Given the description of an element on the screen output the (x, y) to click on. 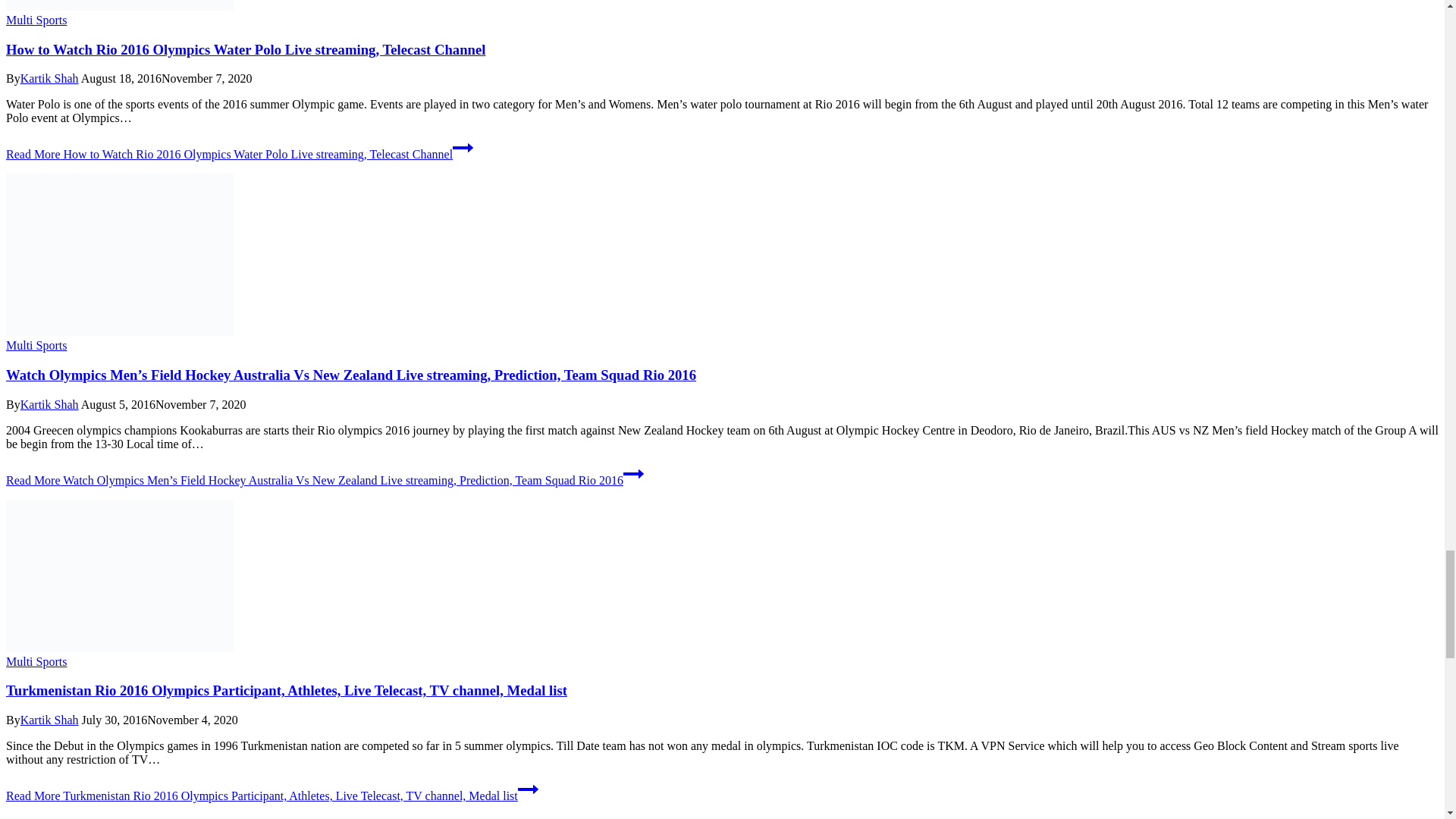
Continue (633, 473)
Turkmenistan athletes in rio olympics games 2016 (118, 575)
water polo in olympics (118, 5)
Continue (462, 147)
Continue (528, 789)
